Given the description of an element on the screen output the (x, y) to click on. 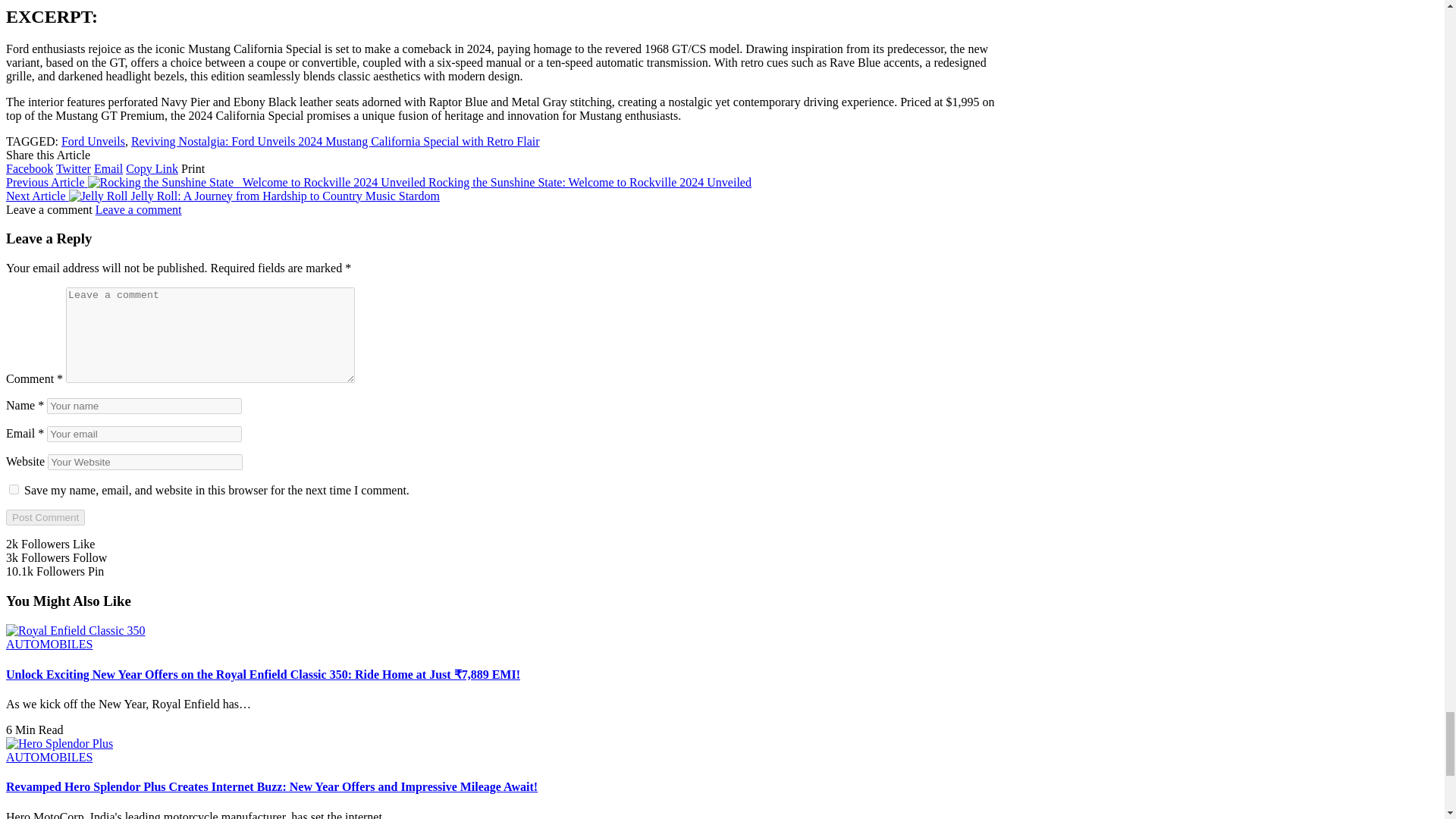
Post Comment (44, 517)
yes (13, 489)
